Given the description of an element on the screen output the (x, y) to click on. 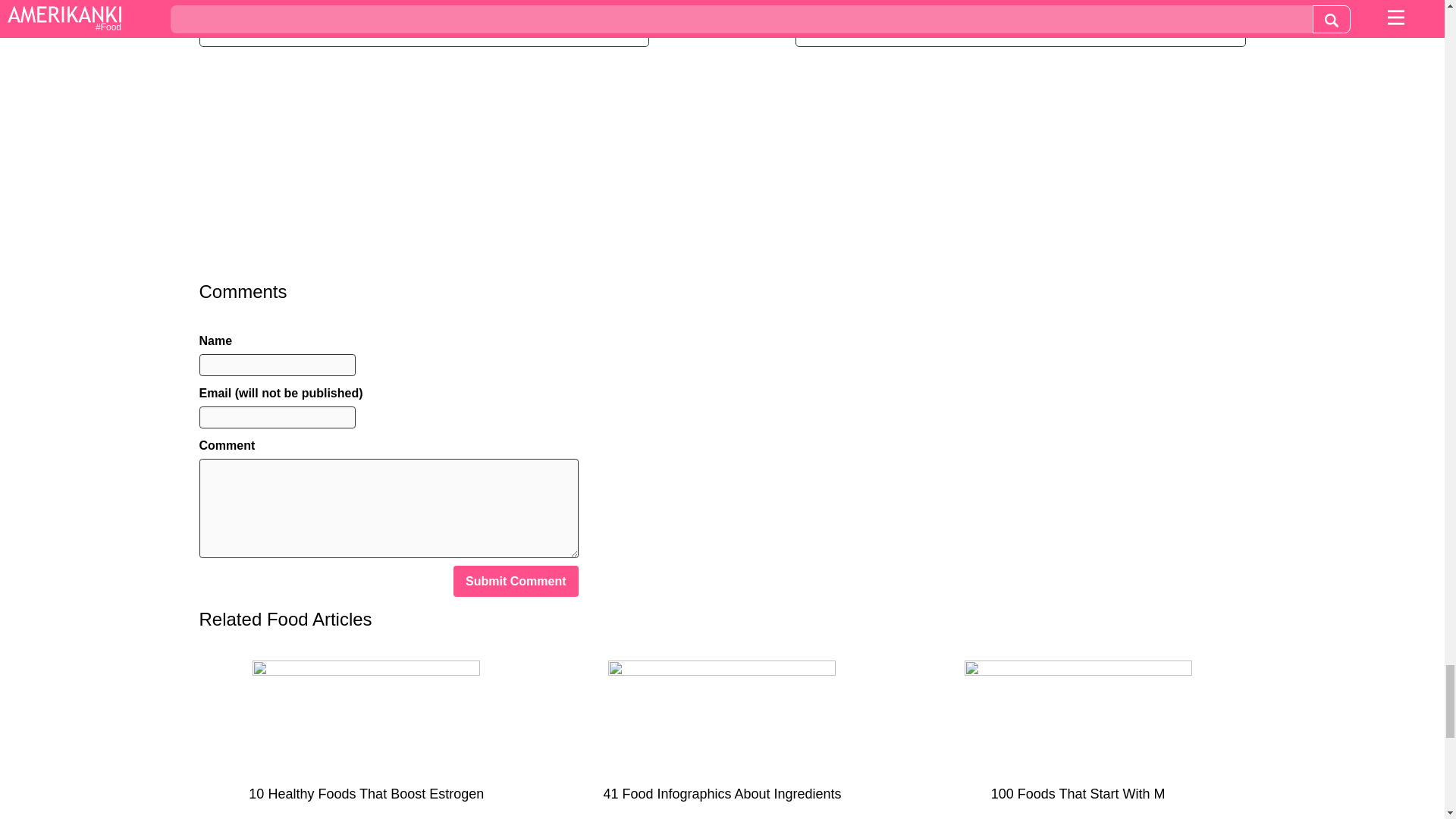
8 Incredible Summer Camping Snacks You Will Love (1019, 29)
Submit Comment (515, 581)
